Given the description of an element on the screen output the (x, y) to click on. 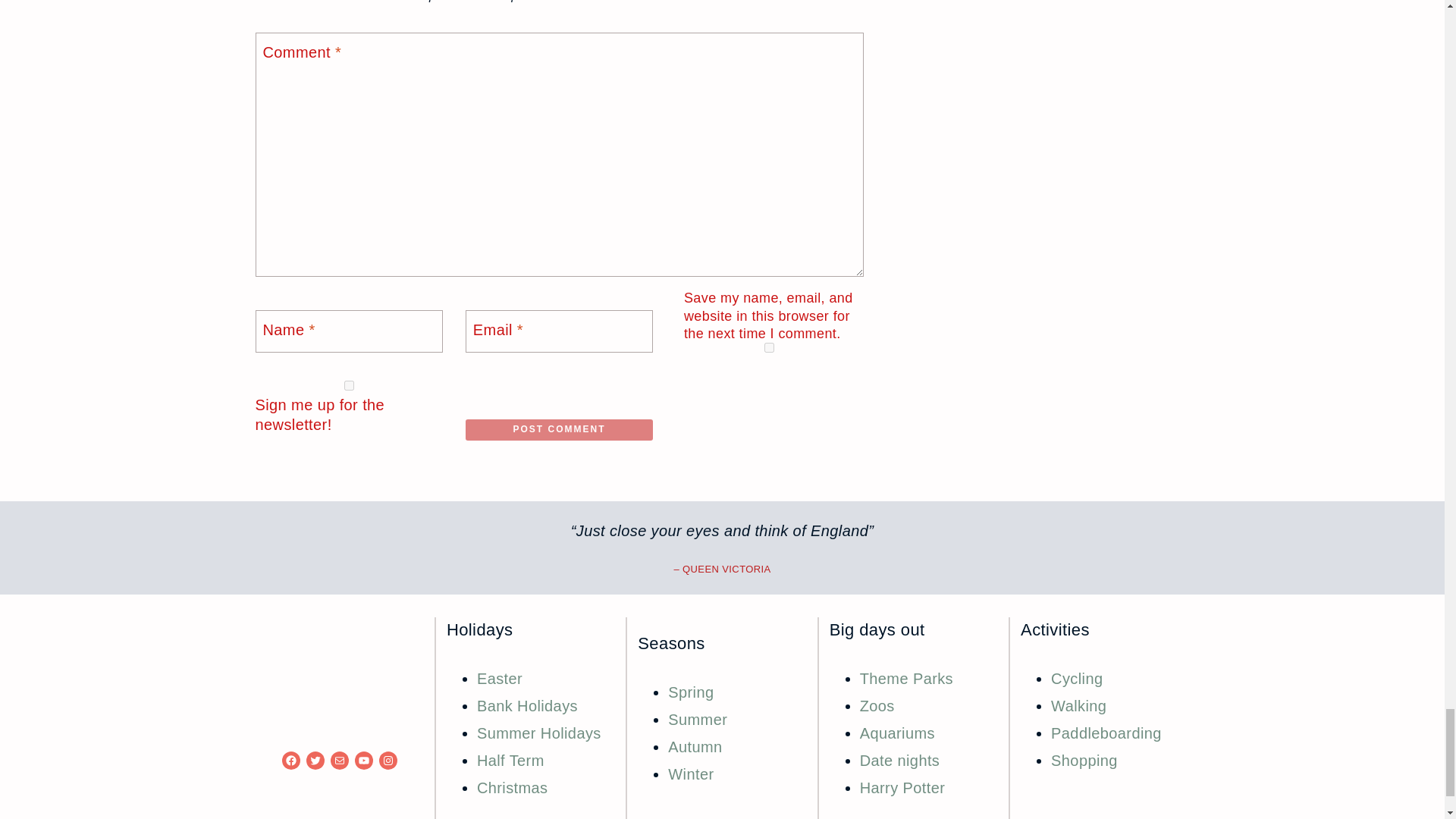
yes (769, 347)
1 (348, 385)
Post Comment (558, 430)
